Given the description of an element on the screen output the (x, y) to click on. 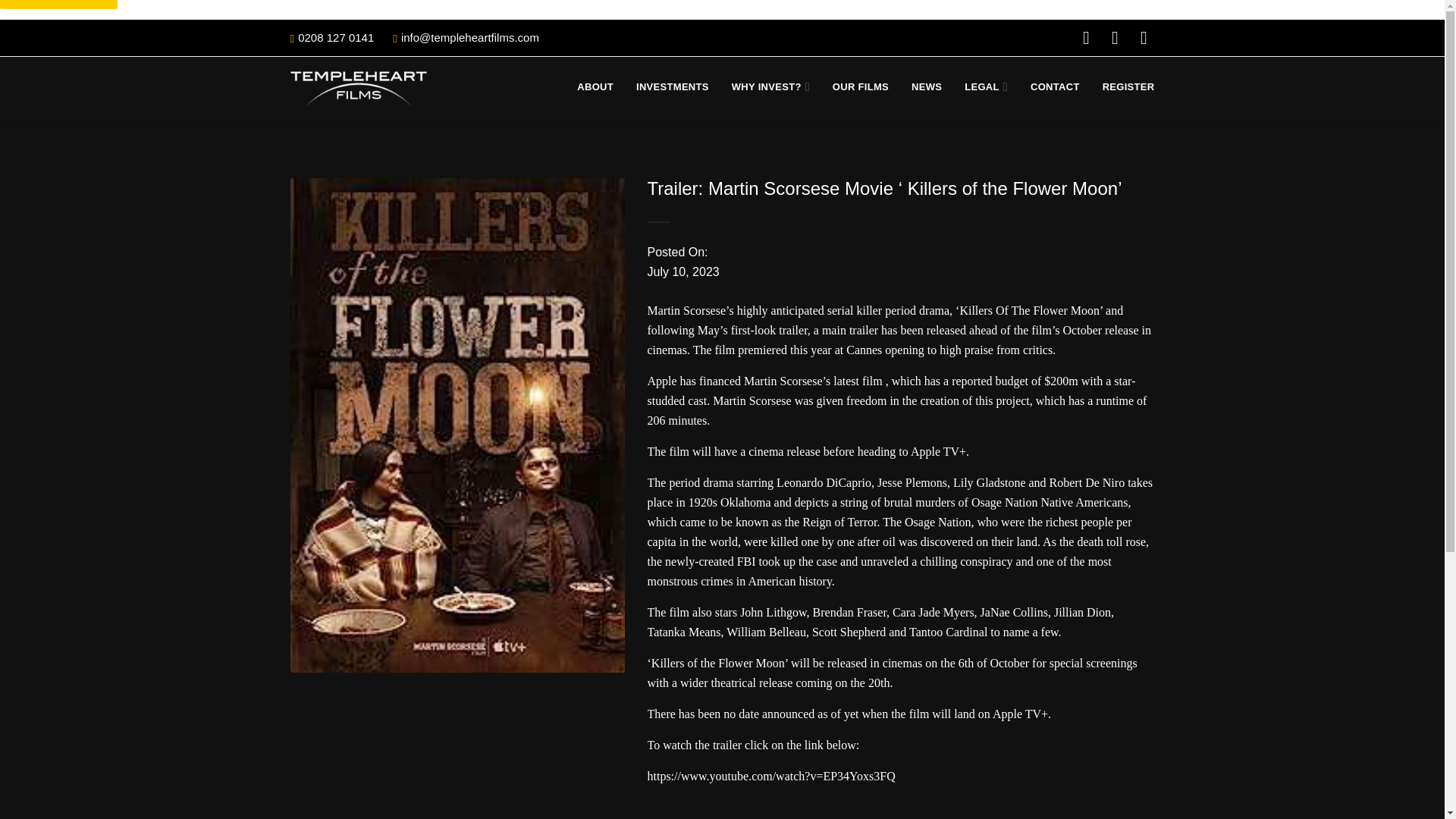
Templeheart (357, 86)
IMDB (1143, 37)
WHY INVEST? (770, 86)
Twitter (1114, 37)
Facebook (1085, 37)
INVESTMENTS (672, 86)
REGISTER NOW (58, 4)
OUR FILMS (860, 86)
0208 127 0141 (336, 37)
0208 127 0141 (336, 37)
